Given the description of an element on the screen output the (x, y) to click on. 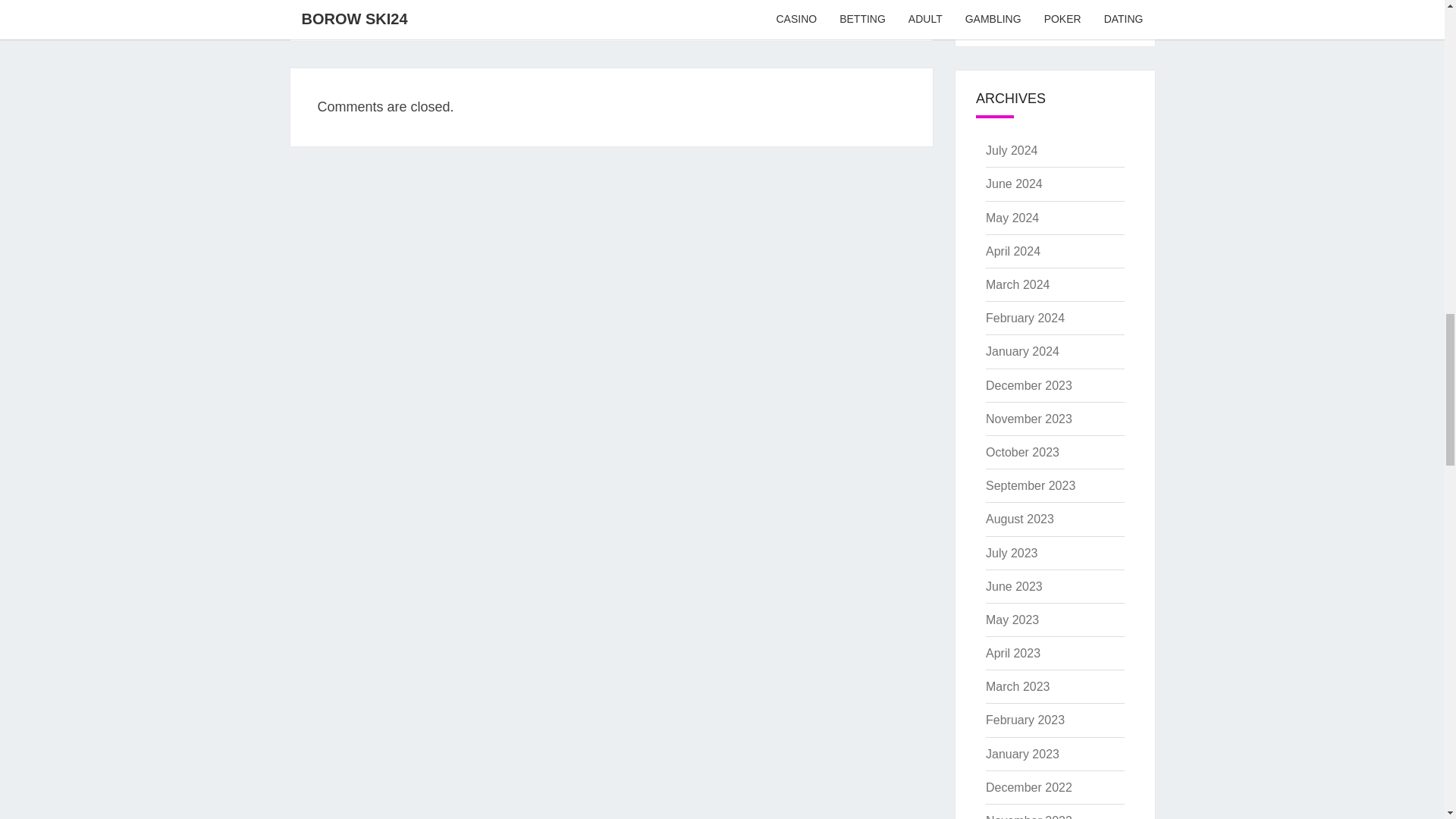
February 2024 (1024, 318)
October 2023 (1022, 451)
November 2023 (1028, 418)
May 2023 (1012, 619)
July 2023 (1011, 553)
December 2023 (1028, 385)
March 2024 (1017, 284)
July 2024 (1011, 150)
March 2023 (1017, 686)
September 2023 (1030, 485)
January 2023 (1022, 753)
August 2023 (1019, 518)
February 2023 (1024, 719)
